Given the description of an element on the screen output the (x, y) to click on. 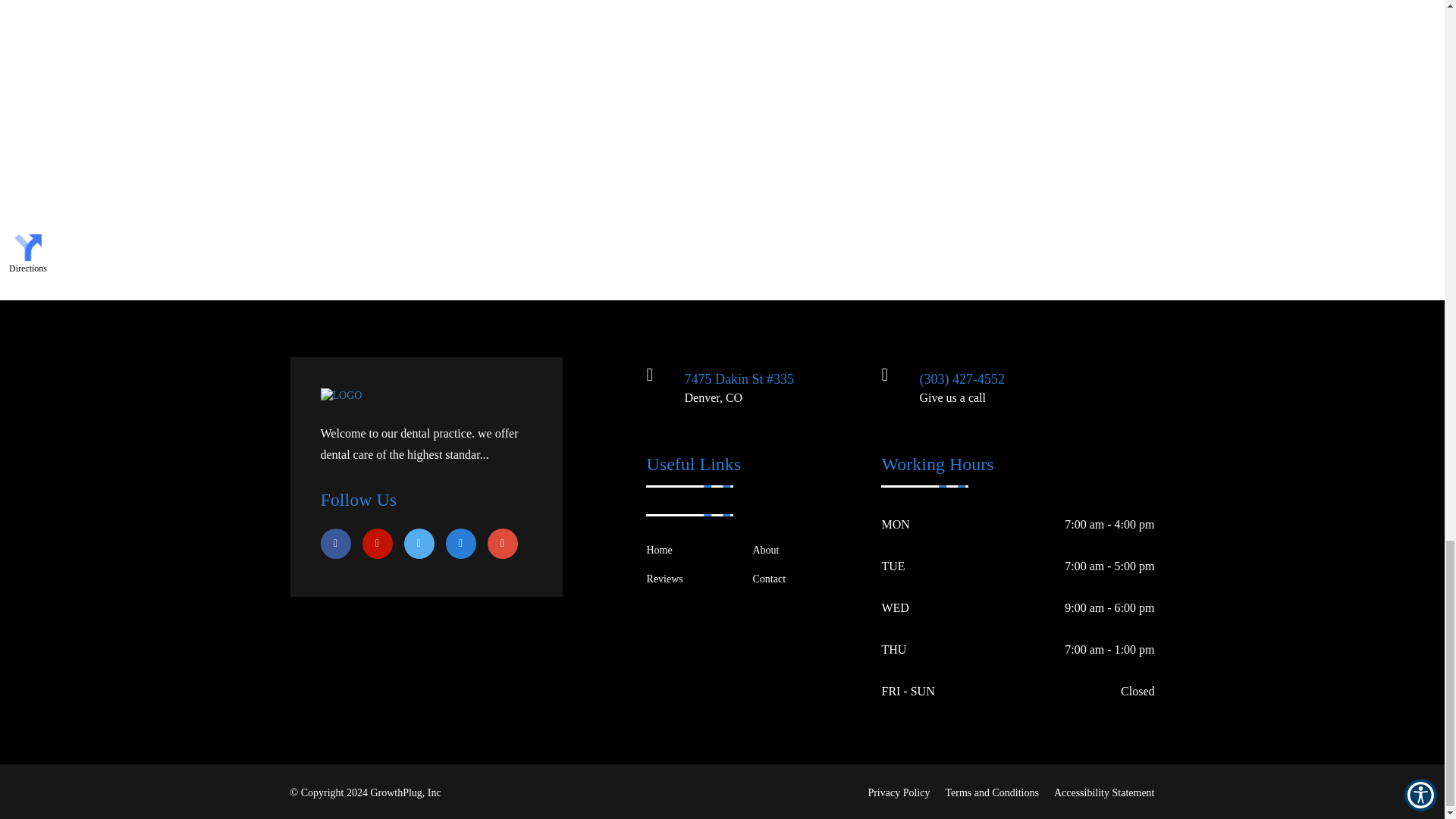
LOGO (340, 395)
